Given the description of an element on the screen output the (x, y) to click on. 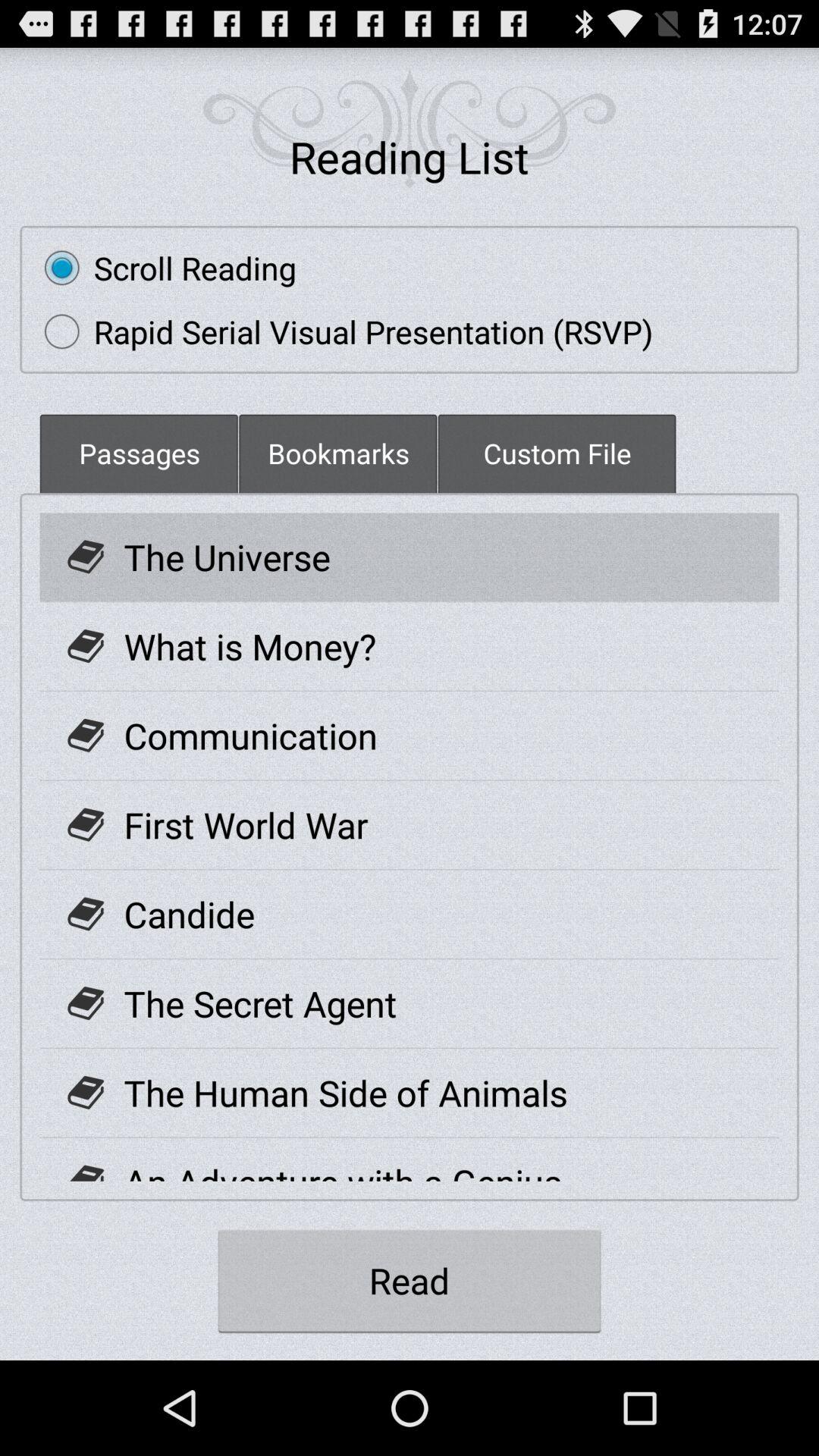
tap item below scroll reading icon (341, 331)
